Given the description of an element on the screen output the (x, y) to click on. 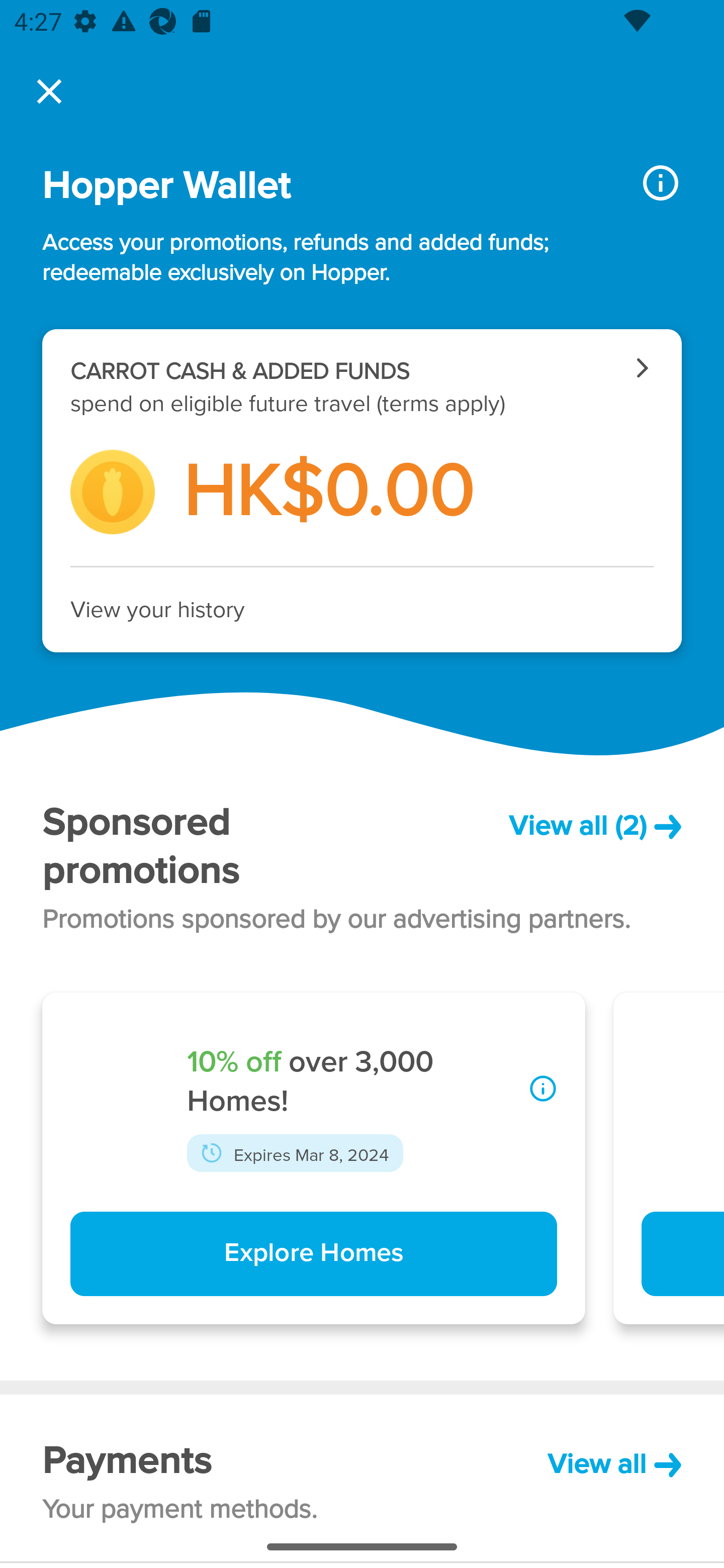
Navigate up (49, 91)
‍Hopper Wallet (326, 185)
‍View your history (361, 609)
‍Explore Homes (313, 1254)
‍Payments ‍View all ​ ‍Your payment methods. (362, 1477)
